Given the description of an element on the screen output the (x, y) to click on. 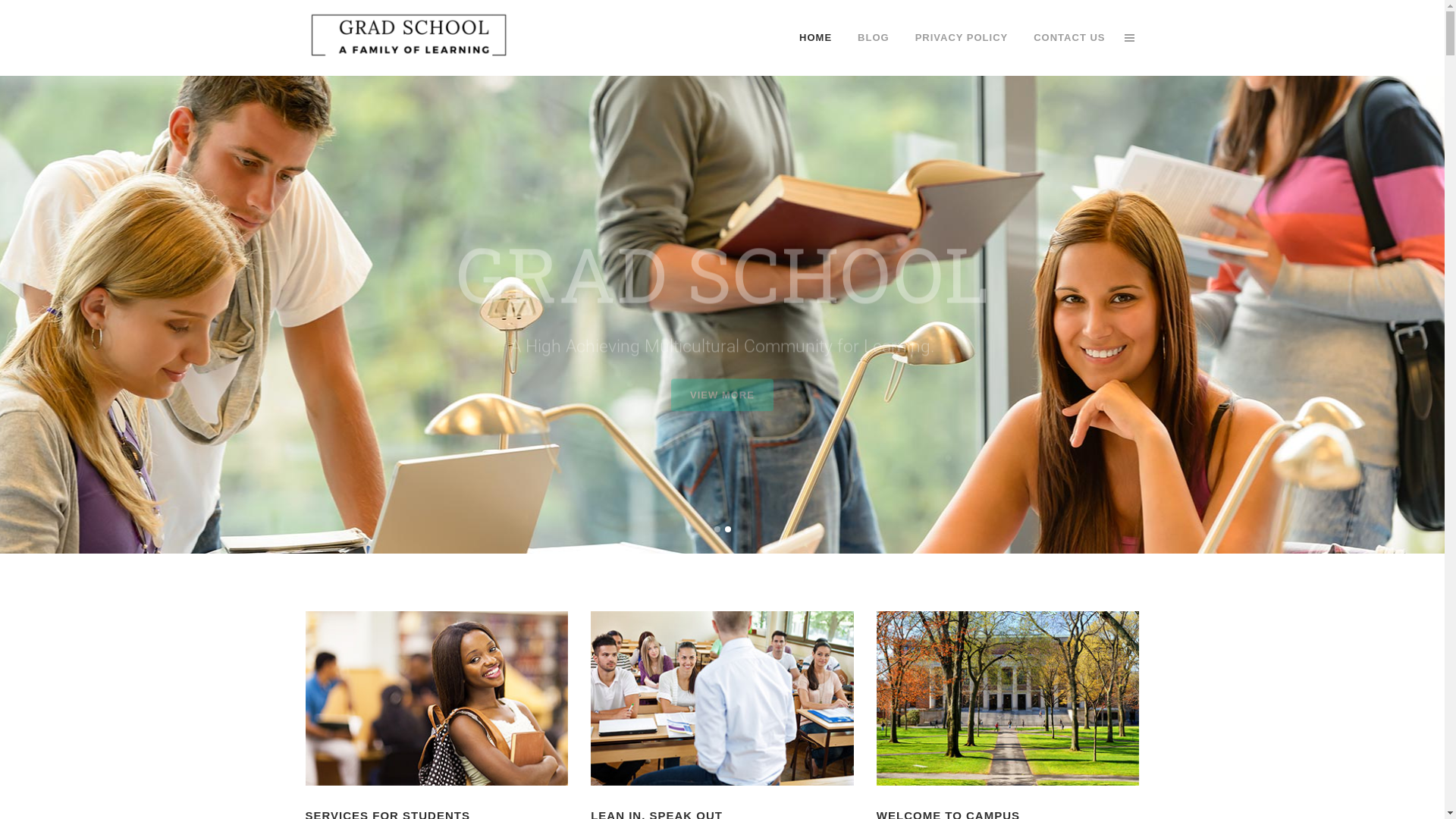
JOIN NOW Element type: text (722, 339)
PRIVACY POLICY Element type: text (961, 37)
  Element type: text (1128, 37)
HOME Element type: text (815, 37)
CONTACT US Element type: text (1068, 37)
BLOG Element type: text (873, 37)
